Given the description of an element on the screen output the (x, y) to click on. 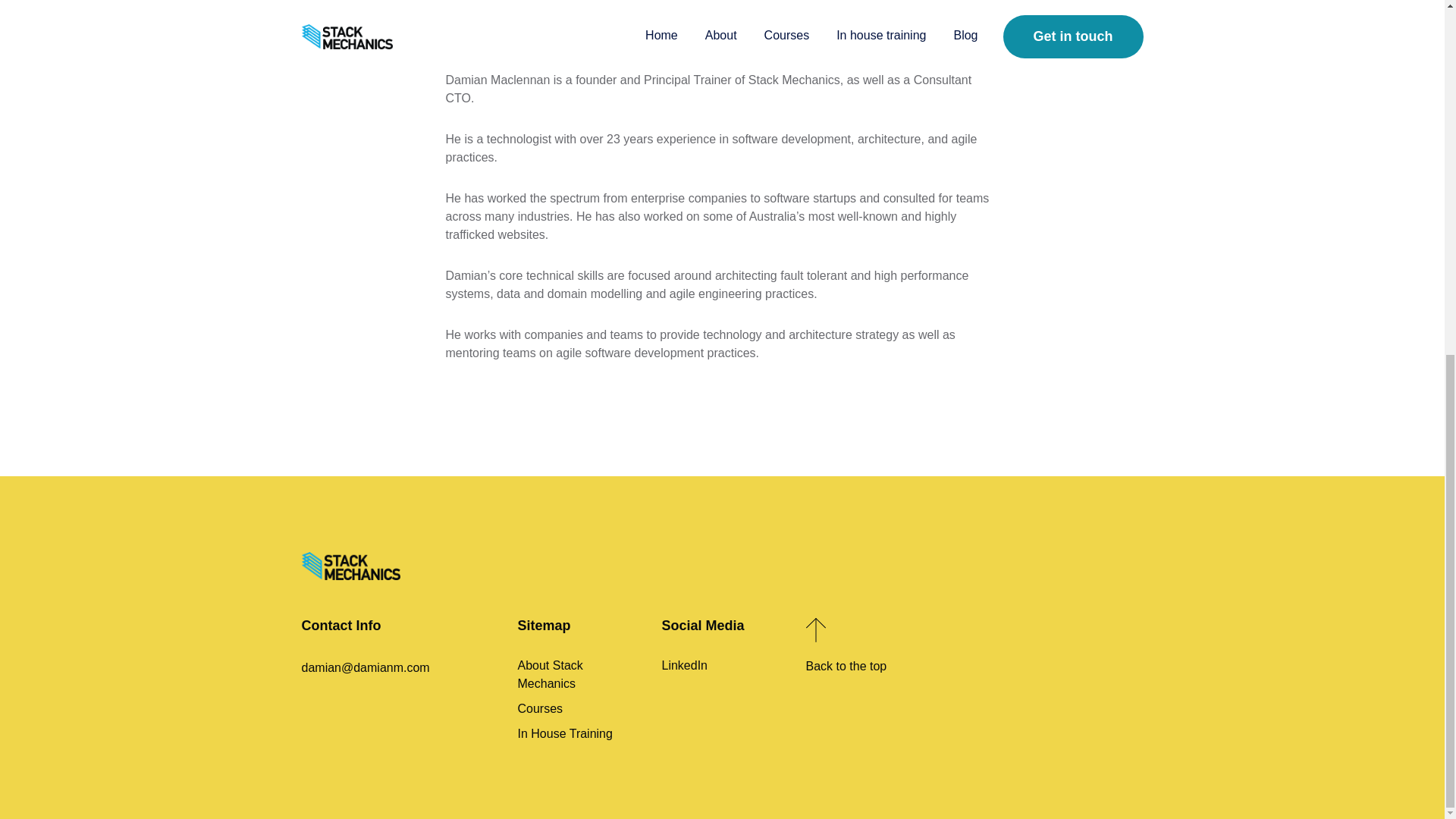
In House Training (577, 733)
About Stack Mechanics (577, 678)
Courses (577, 712)
LinkedIn (722, 665)
Back to the top (865, 652)
